Given the description of an element on the screen output the (x, y) to click on. 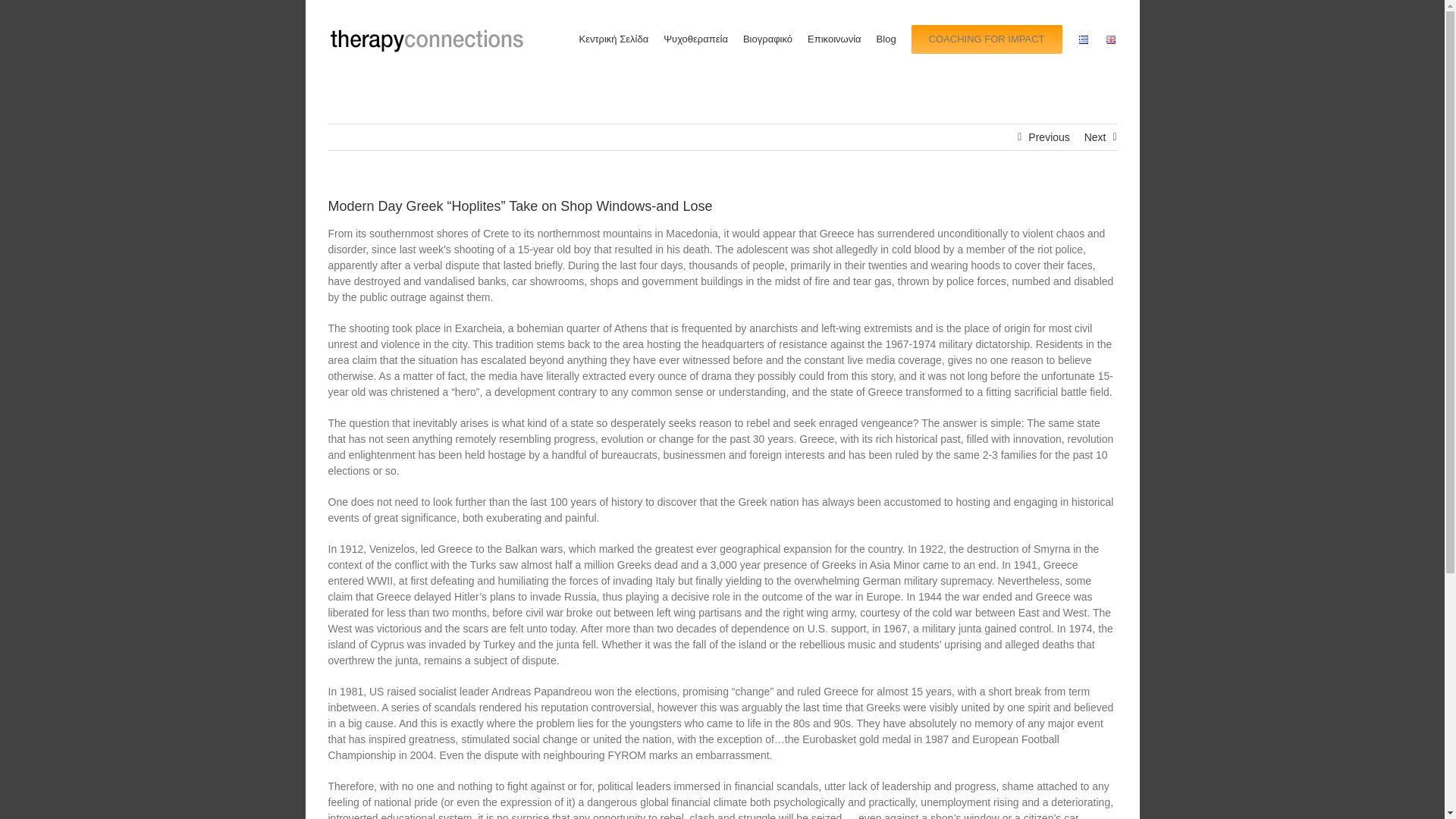
COACHING FOR IMPACT (986, 38)
Blog (886, 38)
Previous (1047, 136)
Next (1095, 136)
